Given the description of an element on the screen output the (x, y) to click on. 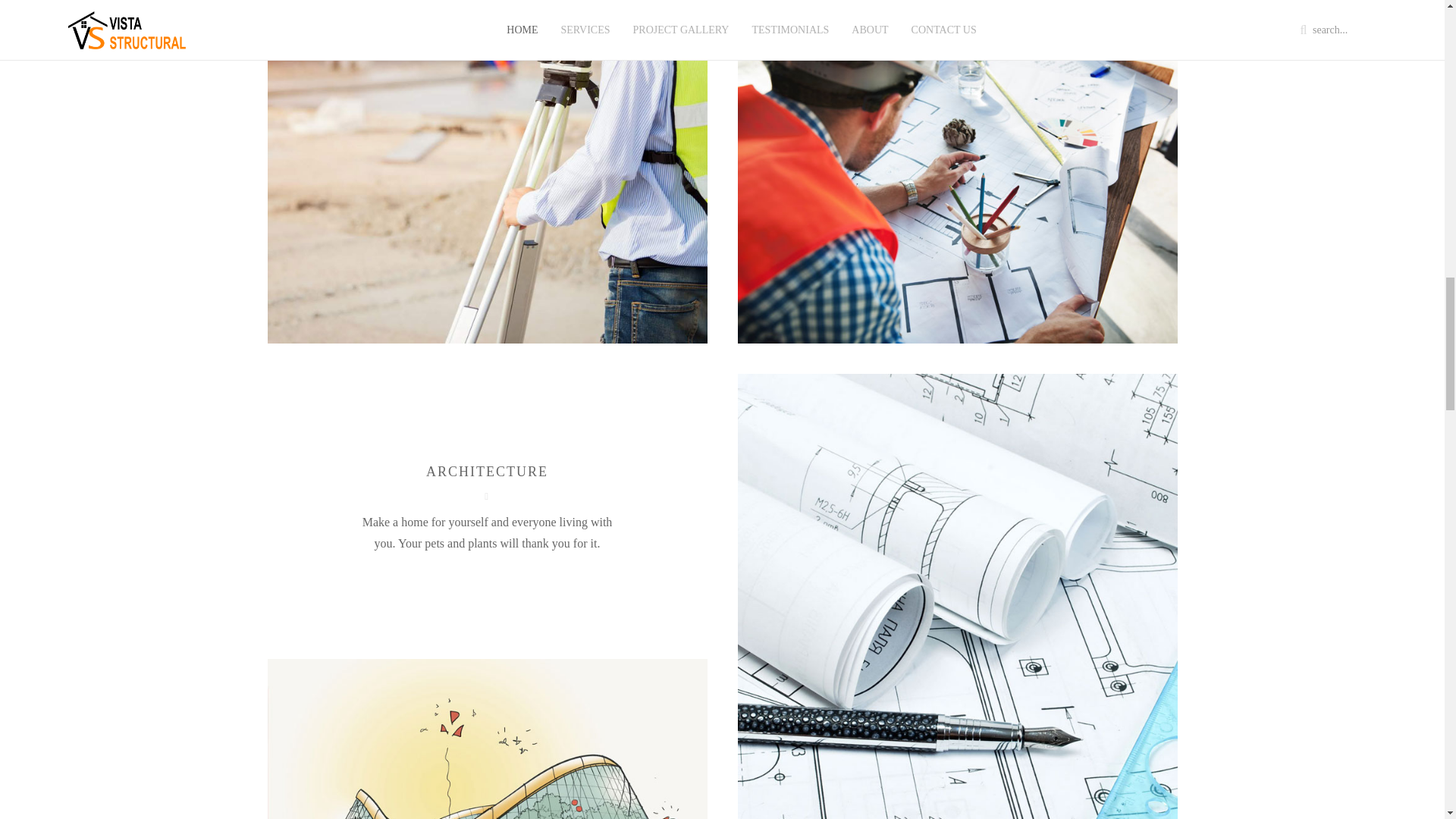
ARCHITECTURE (487, 471)
